Given the description of an element on the screen output the (x, y) to click on. 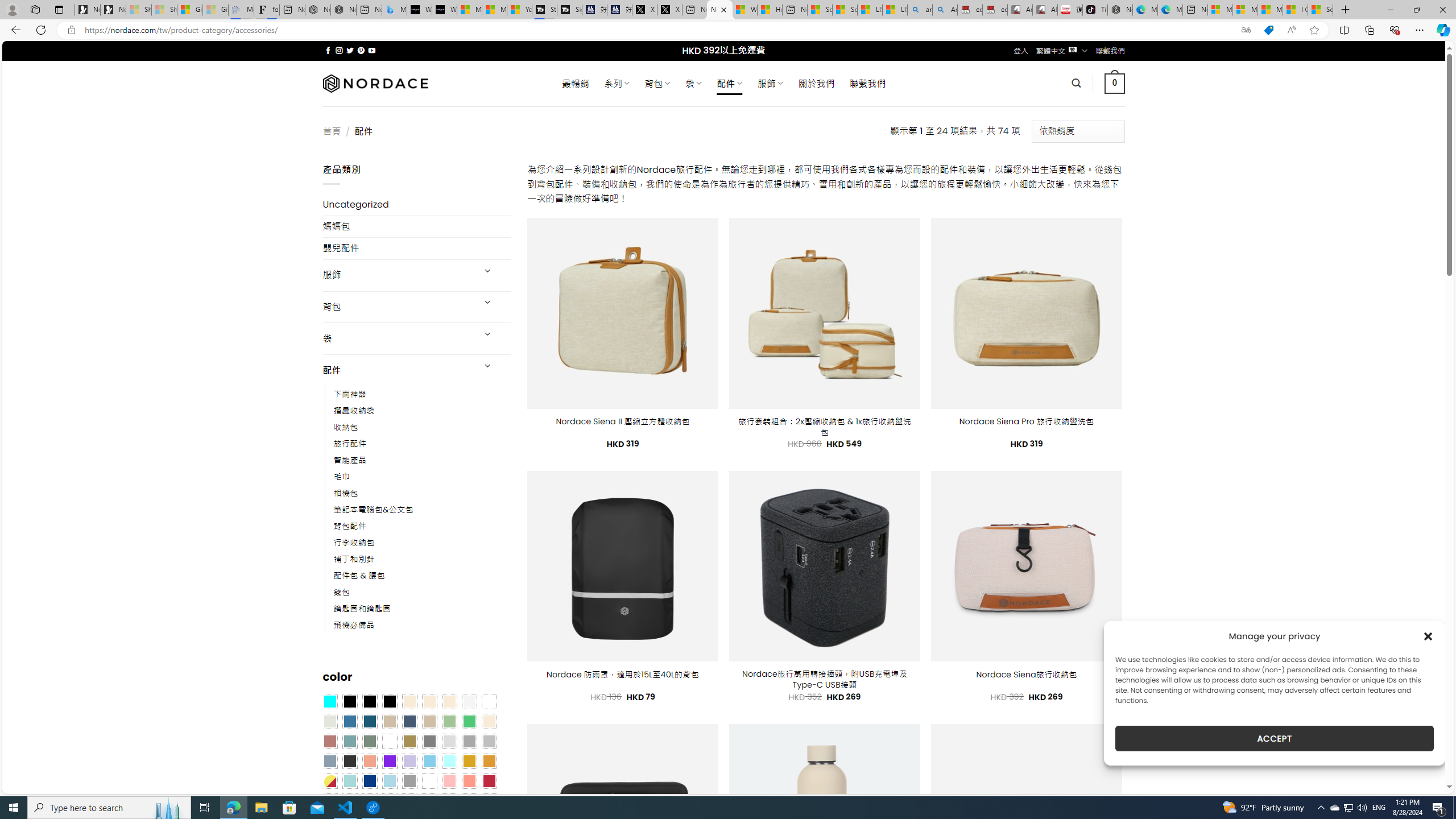
Cream (449, 701)
